Given the description of an element on the screen output the (x, y) to click on. 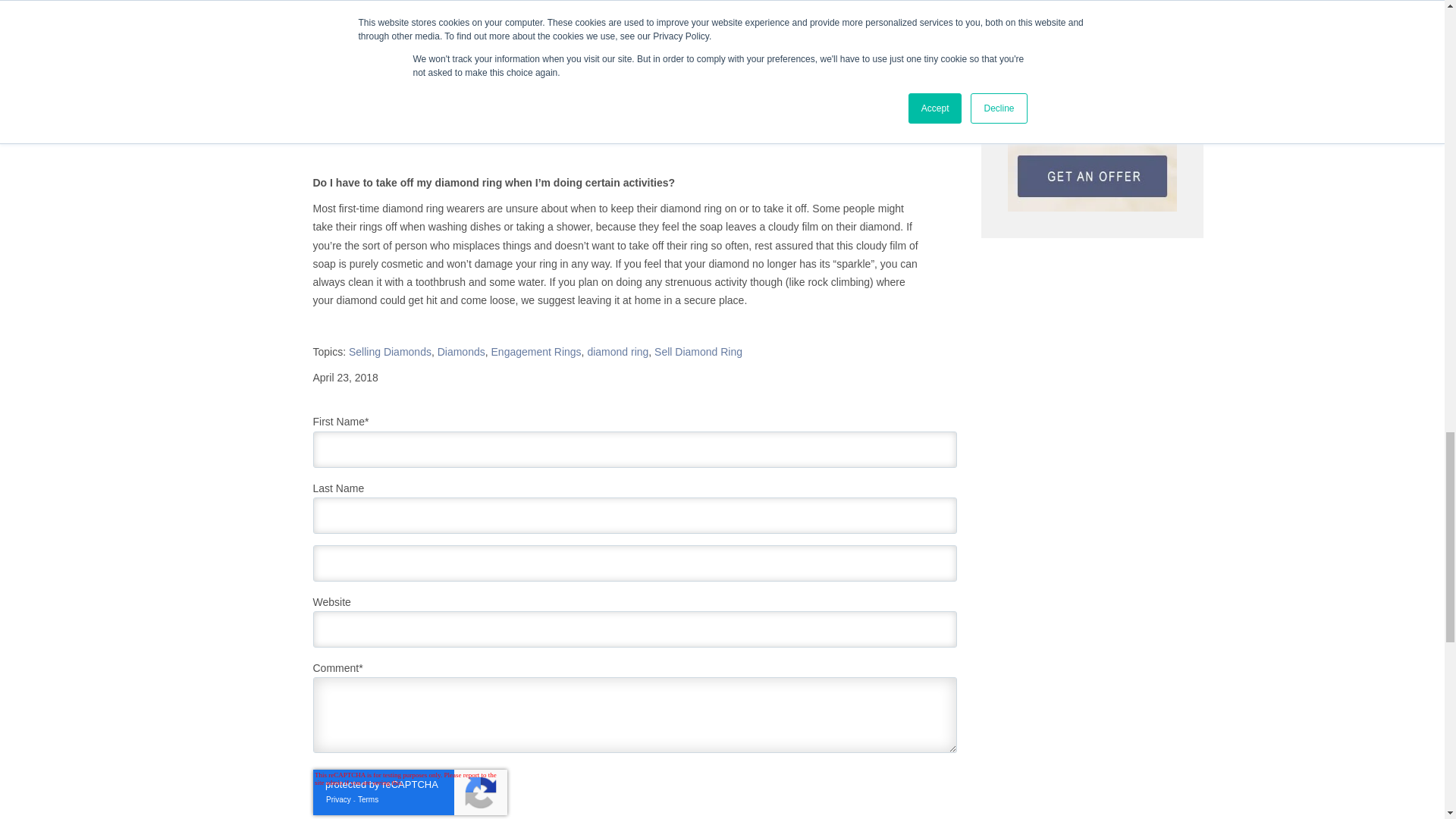
reCAPTCHA (409, 791)
